Given the description of an element on the screen output the (x, y) to click on. 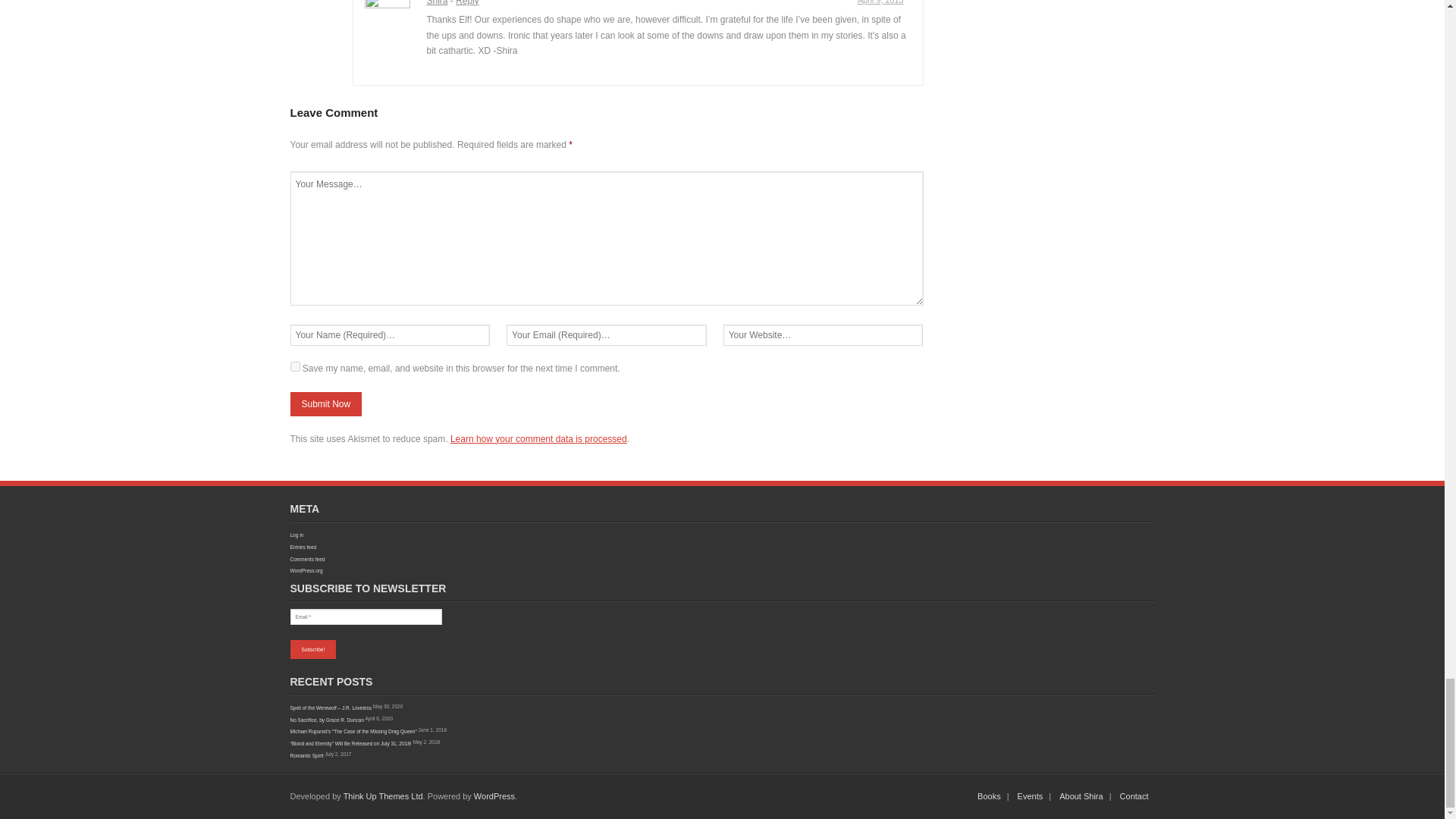
Subscribe! (312, 649)
Submit Now (325, 404)
Email (365, 616)
yes (294, 366)
